Given the description of an element on the screen output the (x, y) to click on. 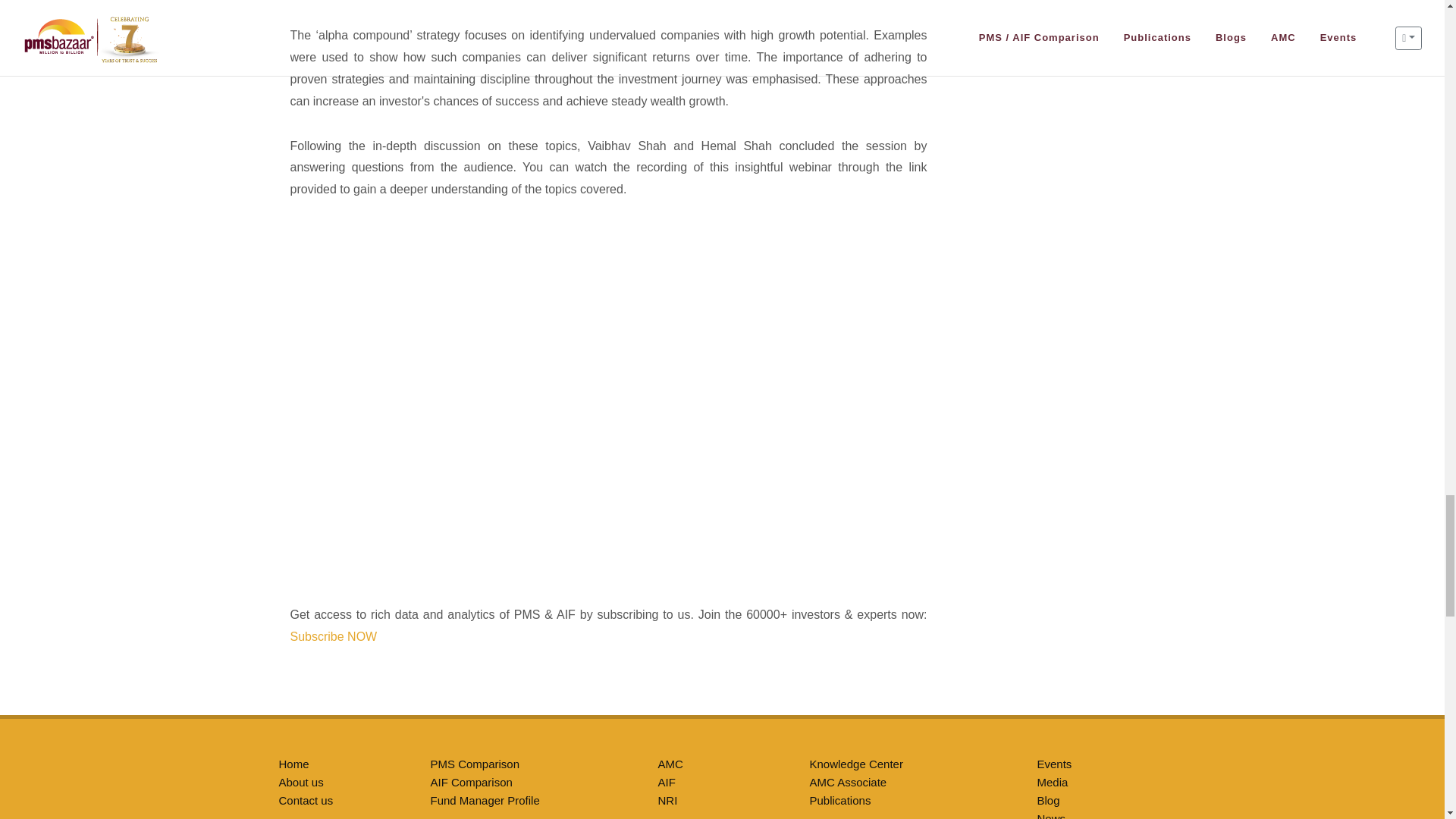
Fund Manager Profile (485, 799)
Subscribe NOW (333, 635)
About Us (301, 781)
AIF Comparison (471, 781)
AMC (670, 763)
NRI (668, 799)
NRI (668, 799)
Knowledge Center (855, 763)
Publications (839, 799)
PMS Comparison (471, 781)
Knowledge Center (855, 763)
Home (293, 763)
AIF (666, 781)
Contact Us (306, 799)
Fund Manager Profile (485, 799)
